Given the description of an element on the screen output the (x, y) to click on. 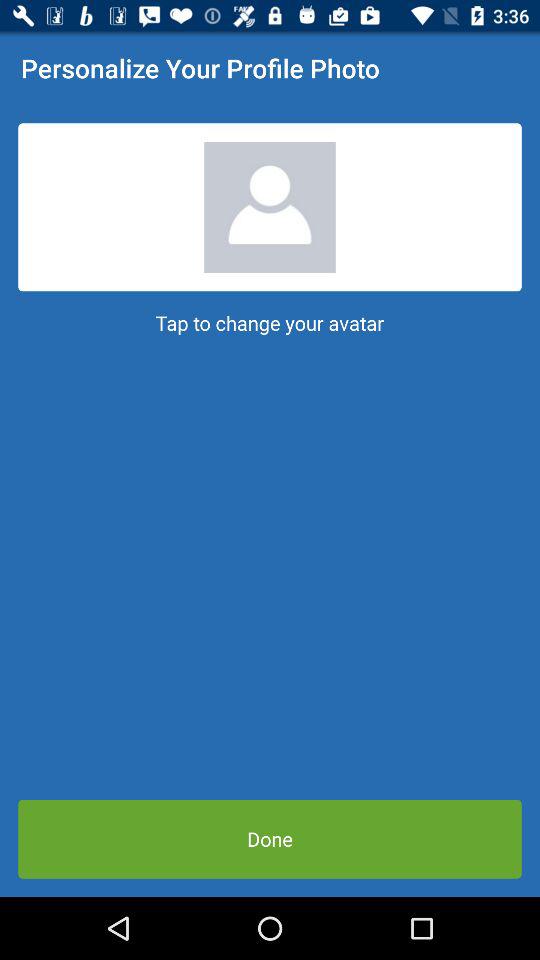
flip to done item (269, 838)
